Given the description of an element on the screen output the (x, y) to click on. 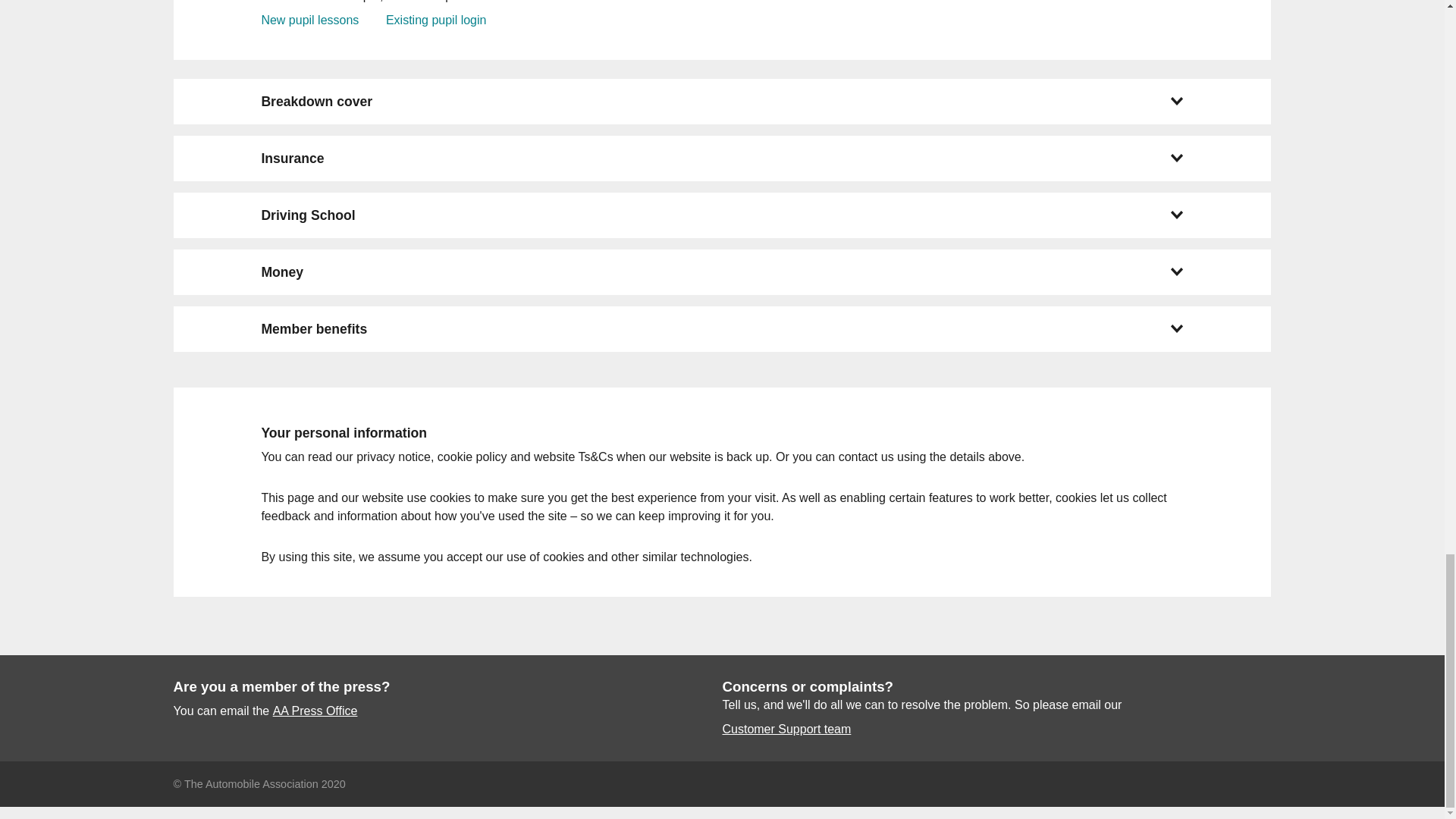
New pupil lessons (309, 20)
Customer Support team (786, 729)
AA Press Office (315, 710)
Existing pupil login (435, 20)
